Given the description of an element on the screen output the (x, y) to click on. 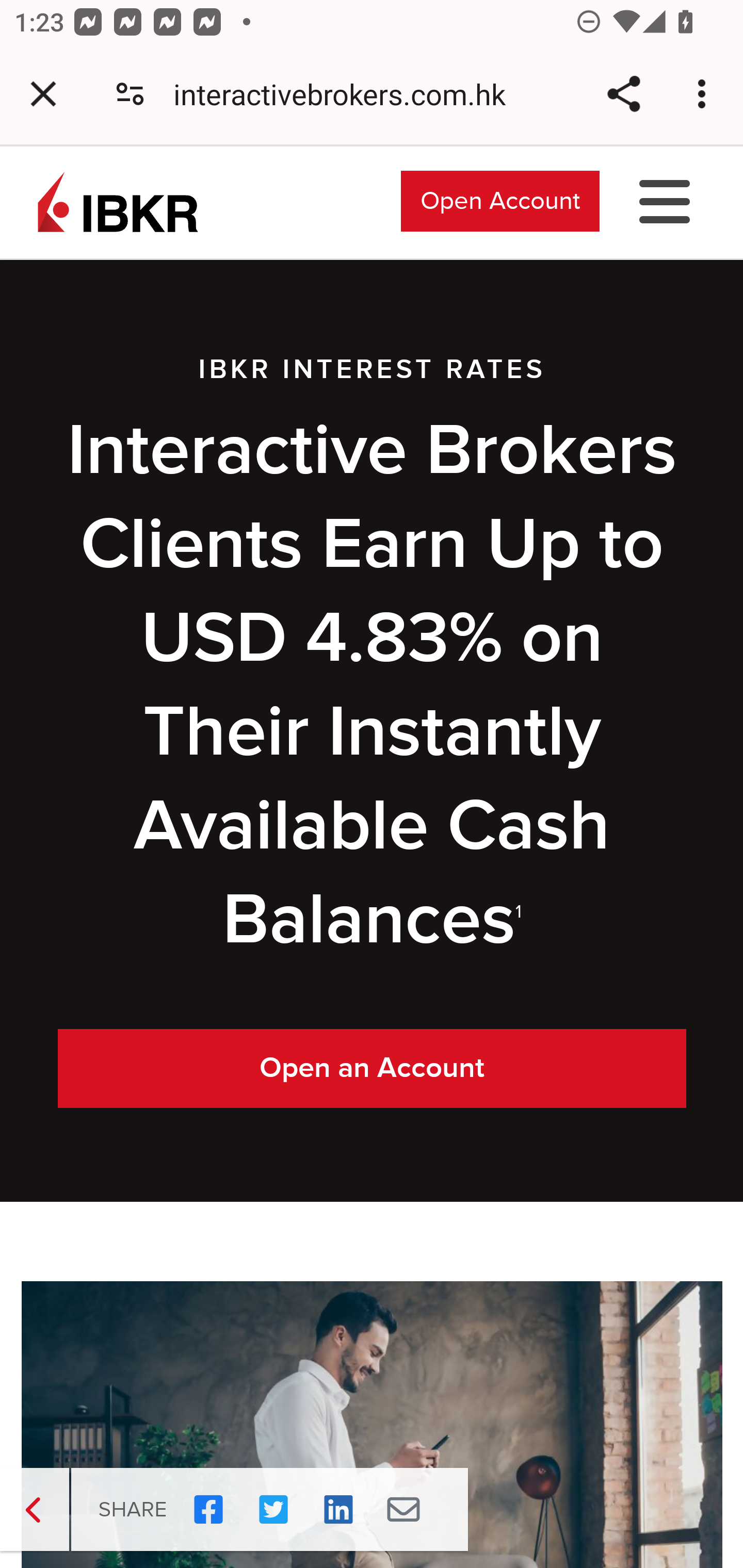
Close tab (43, 93)
Share (623, 93)
Customize and control Google Chrome (705, 93)
Connection is secure (129, 93)
interactivebrokers.com.hk (346, 93)
Interactive Brokers Home (117, 200)
Open Account (500, 200)
Toggle Navigation (665, 200)
Open an Account (372, 1068)
Share on Facebook  (208, 1509)
Share on Twitter  (272, 1509)
Share on Linkedin  (338, 1509)
Share by Email  (403, 1509)
